Given the description of an element on the screen output the (x, y) to click on. 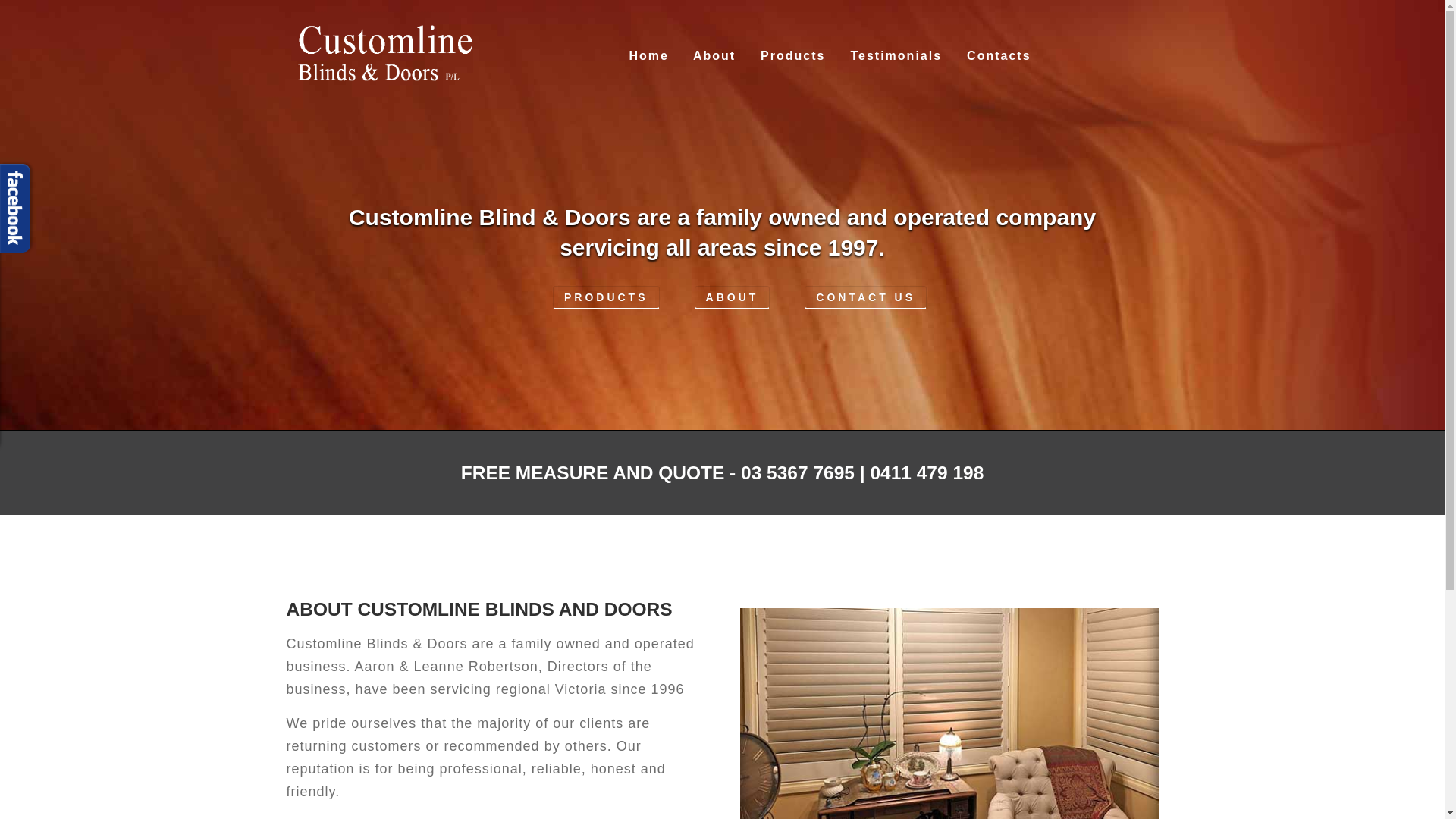
Products Element type: text (792, 55)
PRODUCTS Element type: text (588, 334)
ABOUT Element type: text (714, 334)
Contacts Element type: text (998, 55)
CONTACT US Element type: text (865, 297)
PRODUCTS Element type: text (605, 297)
About Element type: text (714, 55)
CONTACT US Element type: text (847, 334)
Home Element type: text (648, 55)
Testimonials Element type: text (895, 55)
ABOUT Element type: text (732, 297)
